Given the description of an element on the screen output the (x, y) to click on. 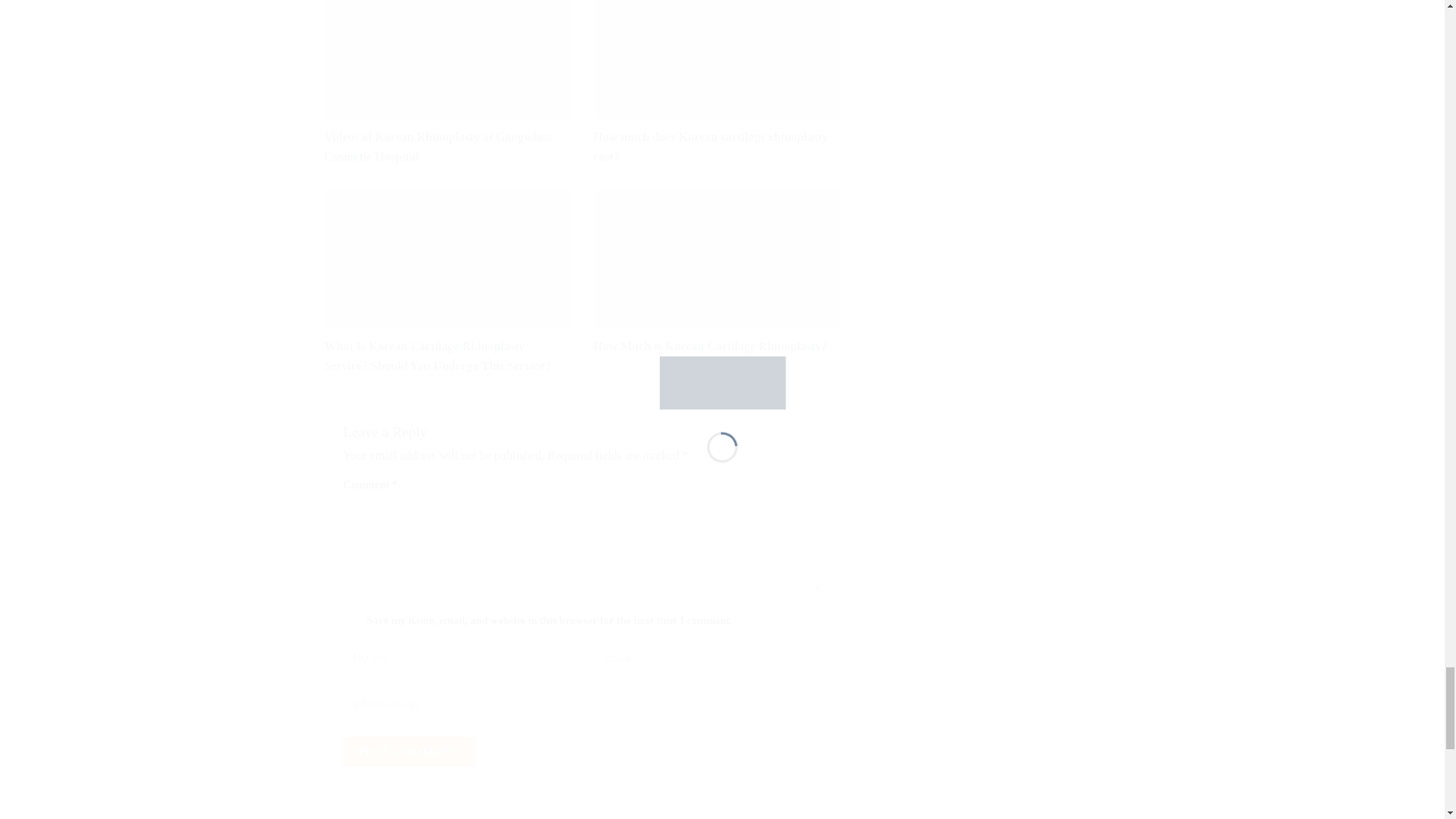
yes (350, 619)
Post Comment (408, 751)
